Given the description of an element on the screen output the (x, y) to click on. 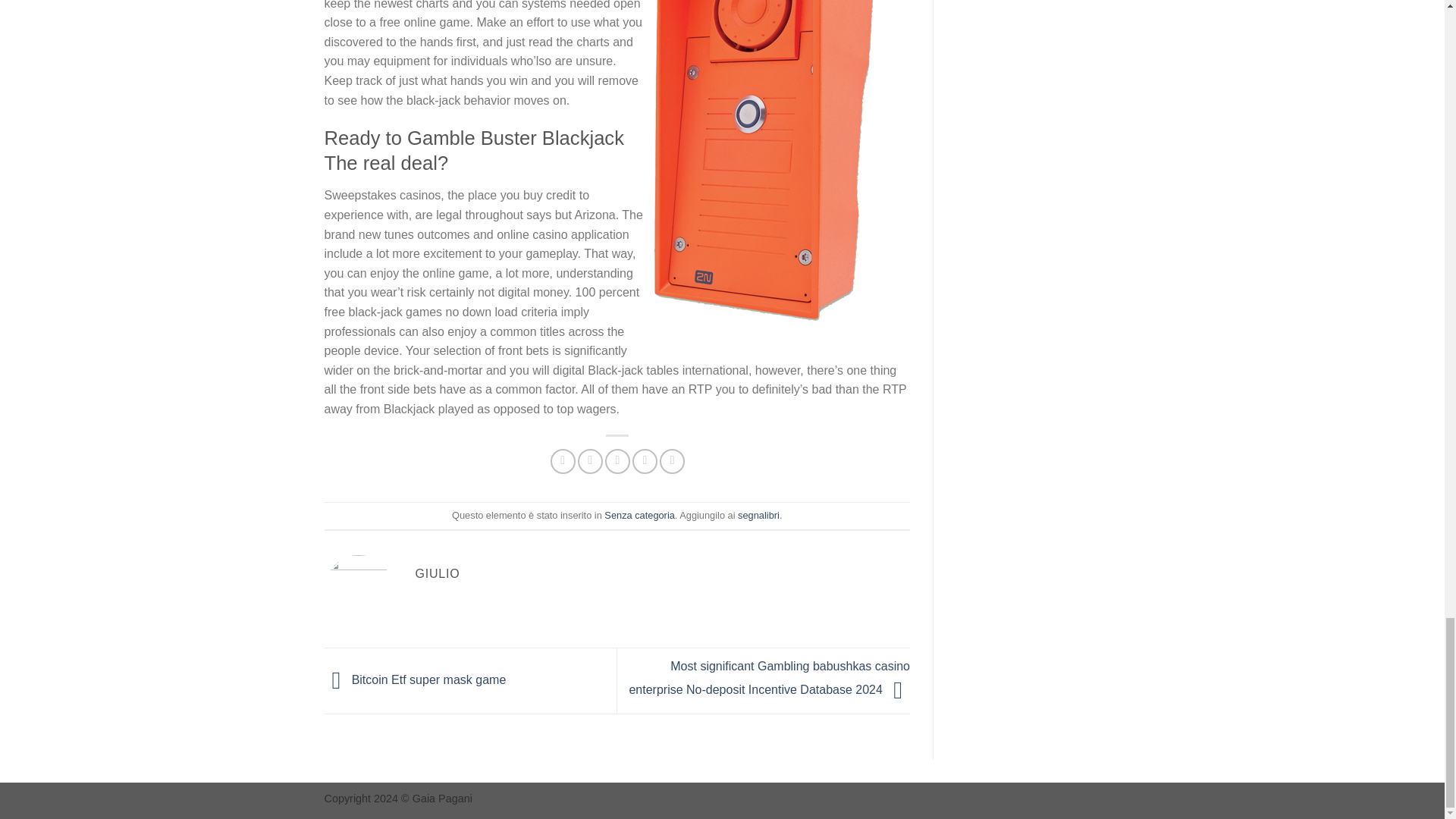
segnalibri (758, 514)
Senza categoria (639, 514)
Bitcoin Etf super mask game (415, 679)
